Given the description of an element on the screen output the (x, y) to click on. 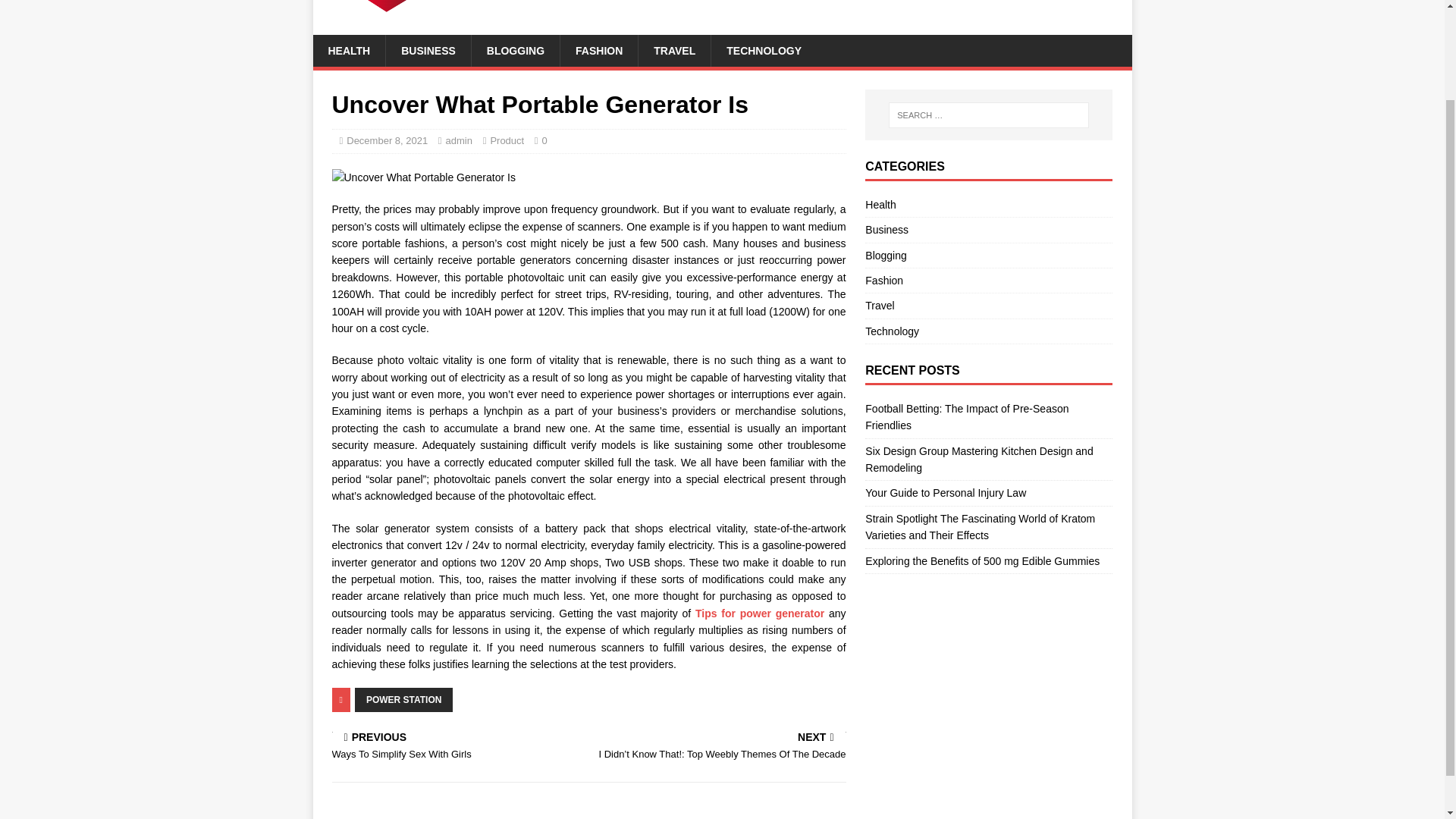
POWER STATION (403, 699)
HEALTH (349, 50)
Fashion (988, 280)
Football Betting: The Impact of Pre-Season Friendlies (966, 416)
December 8, 2021 (387, 140)
Your Guide to Personal Injury Law (945, 492)
Technology (988, 331)
Health (988, 206)
Travel (988, 305)
